Given the description of an element on the screen output the (x, y) to click on. 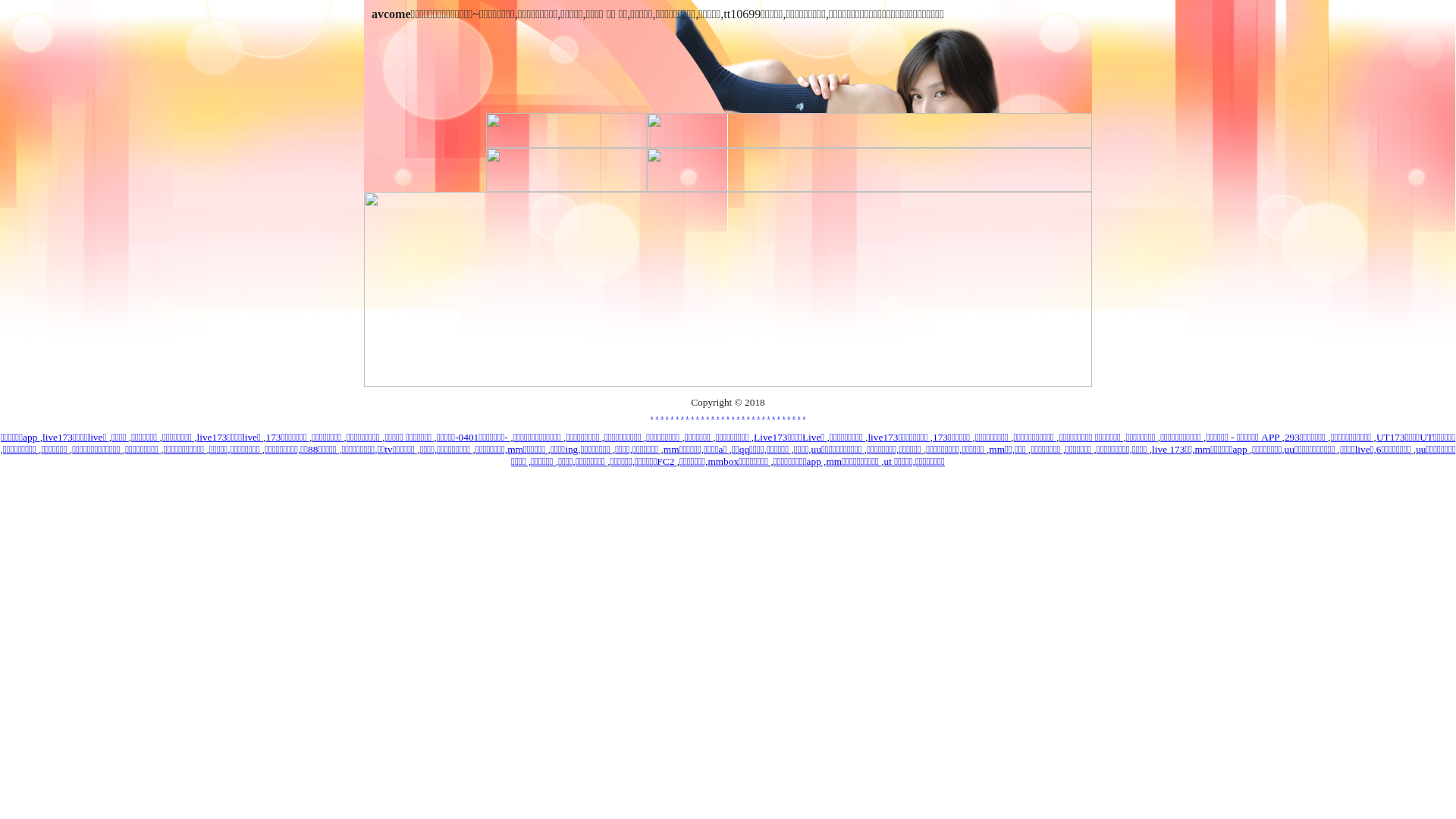
. Element type: text (727, 414)
. Element type: text (783, 414)
. Element type: text (712, 414)
. Element type: text (692, 414)
. Element type: text (722, 414)
. Element type: text (681, 414)
. Element type: text (702, 414)
. Element type: text (732, 414)
. Element type: text (798, 414)
. Element type: text (661, 414)
. Element type: text (717, 414)
. Element type: text (656, 414)
. Element type: text (666, 414)
. Element type: text (707, 414)
. Element type: text (742, 414)
. Element type: text (804, 414)
. Element type: text (757, 414)
. Element type: text (687, 414)
. Element type: text (753, 414)
. Element type: text (747, 414)
. Element type: text (773, 414)
. Element type: text (651, 414)
. Element type: text (738, 414)
. Element type: text (793, 414)
. Element type: text (763, 414)
. Element type: text (768, 414)
. Element type: text (788, 414)
. Element type: text (697, 414)
. Element type: text (676, 414)
. Element type: text (778, 414)
. Element type: text (672, 414)
